Given the description of an element on the screen output the (x, y) to click on. 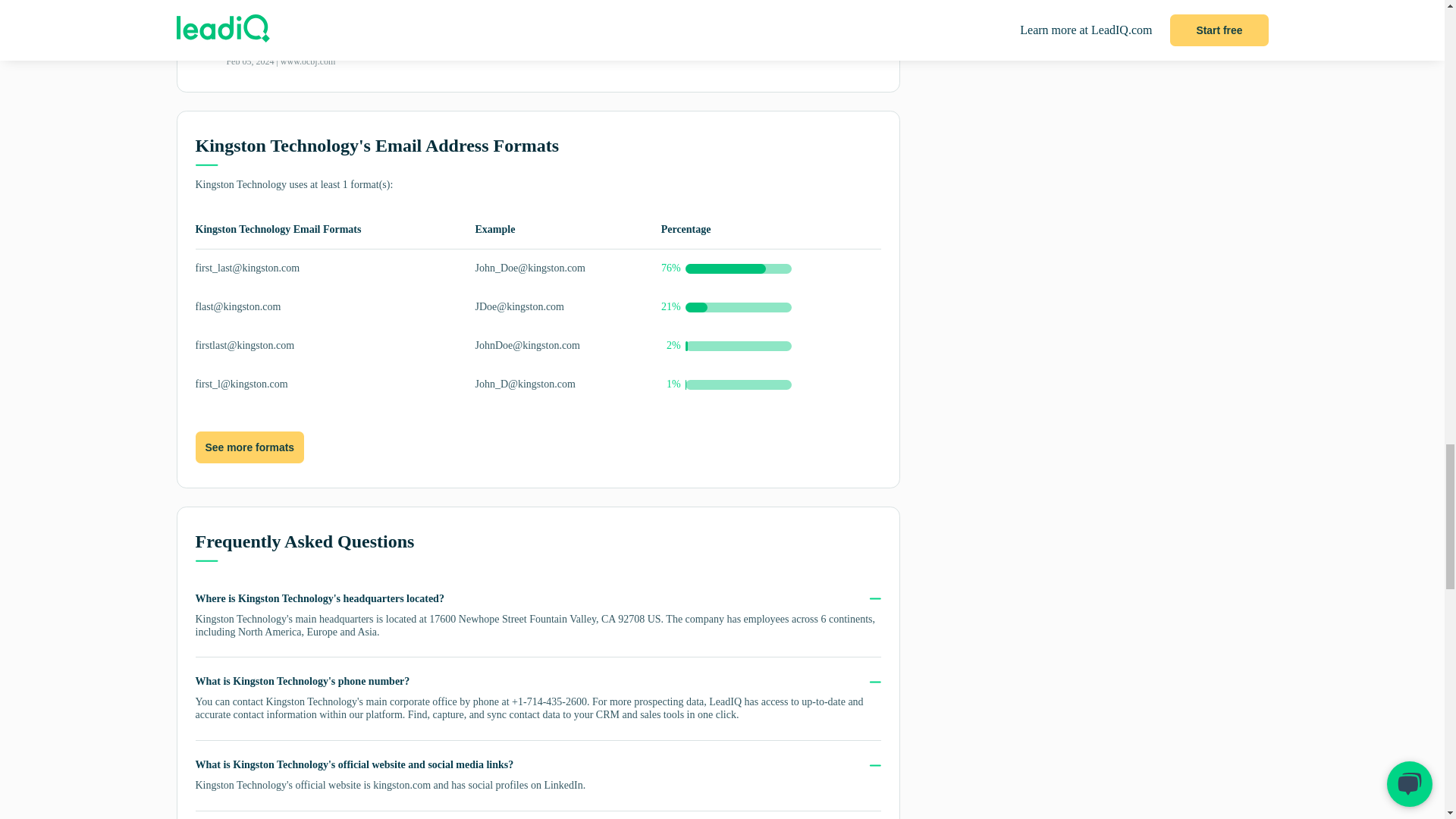
See more formats (249, 447)
LinkedIn (562, 785)
See more formats (249, 448)
kingston.com (401, 785)
